Given the description of an element on the screen output the (x, y) to click on. 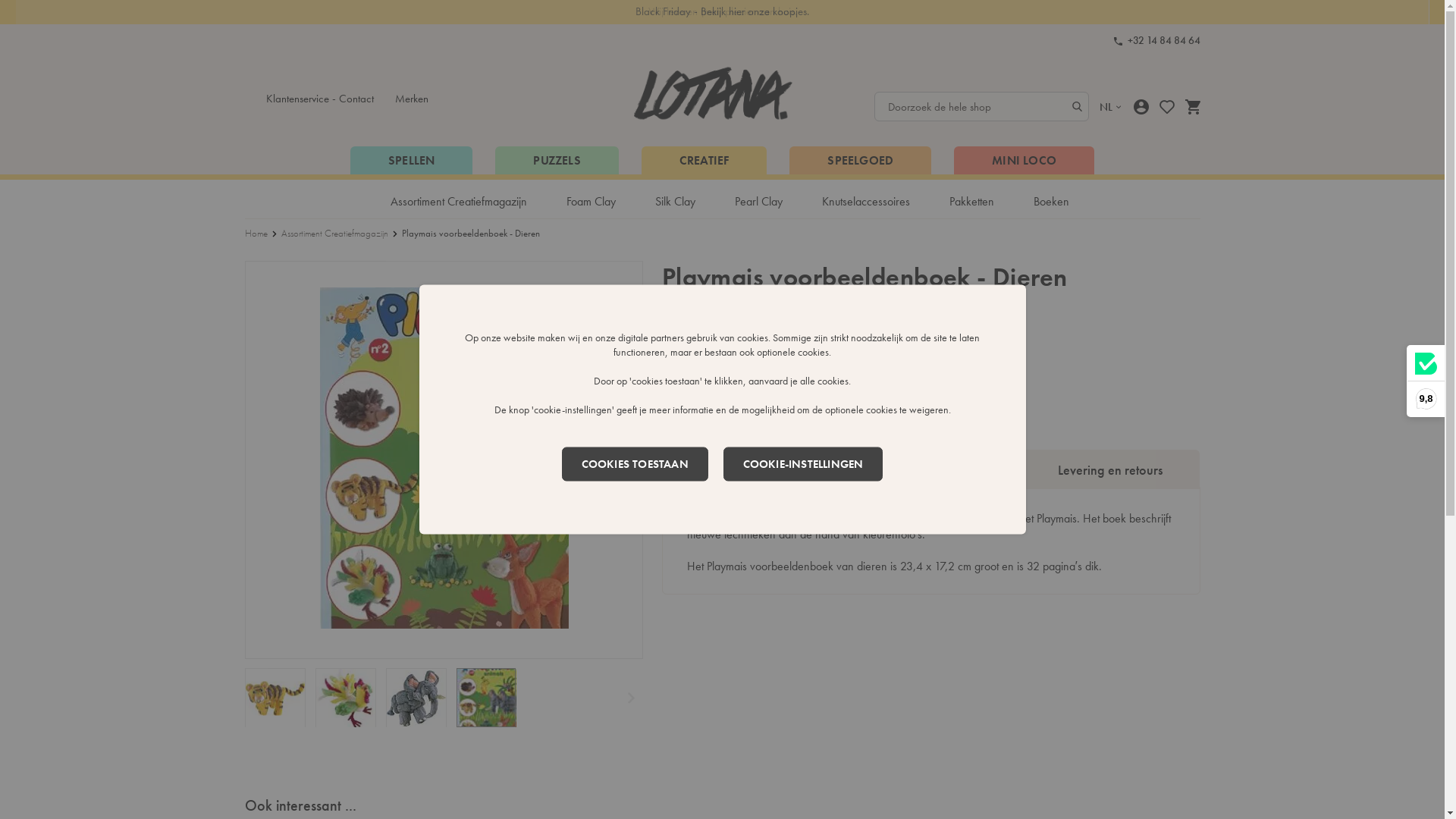
PUZZELS Element type: text (556, 160)
Winkelwagen Element type: text (1191, 106)
Omschrijving Element type: text (751, 469)
Kenmerken Element type: text (930, 469)
IN MIJN WINKELWAGEN Element type: text (760, 396)
Log in Element type: text (1140, 106)
SPEELGOED Element type: text (860, 160)
COOKIES TOESTAAN Element type: text (634, 464)
Lotana BE Element type: hover (712, 92)
Klantenservice - Contact Element type: text (319, 98)
MINI LOCO Element type: text (1023, 160)
Merken Element type: text (410, 98)
Pearl Clay Element type: text (758, 198)
Levering en retours Element type: text (1110, 469)
9,8 Element type: text (1425, 380)
VOEG TOE AAN VERLANGLIJST Element type: text (892, 396)
Silk Clay Element type: text (675, 198)
Zoek Element type: hover (1076, 105)
Pakketten Element type: text (971, 198)
Assortiment Creatiefmagazijn Element type: text (333, 232)
Ga naar het einde van de afbeeldingen-gallerij Element type: text (244, 260)
Ga naar het begin van de afbeeldingen-gallerij Element type: text (244, 726)
+32 14 84 84 64 Element type: text (1156, 40)
Assortiment Creatiefmagazijn Element type: text (458, 198)
Boeken Element type: text (1050, 198)
Verlanglijst Element type: text (1165, 106)
SPELLEN Element type: text (411, 160)
Foam Clay Element type: text (590, 198)
Home Element type: text (255, 232)
Knutselaccessoires Element type: text (865, 198)
COOKIE-INSTELLINGEN Element type: text (803, 464)
